Given the description of an element on the screen output the (x, y) to click on. 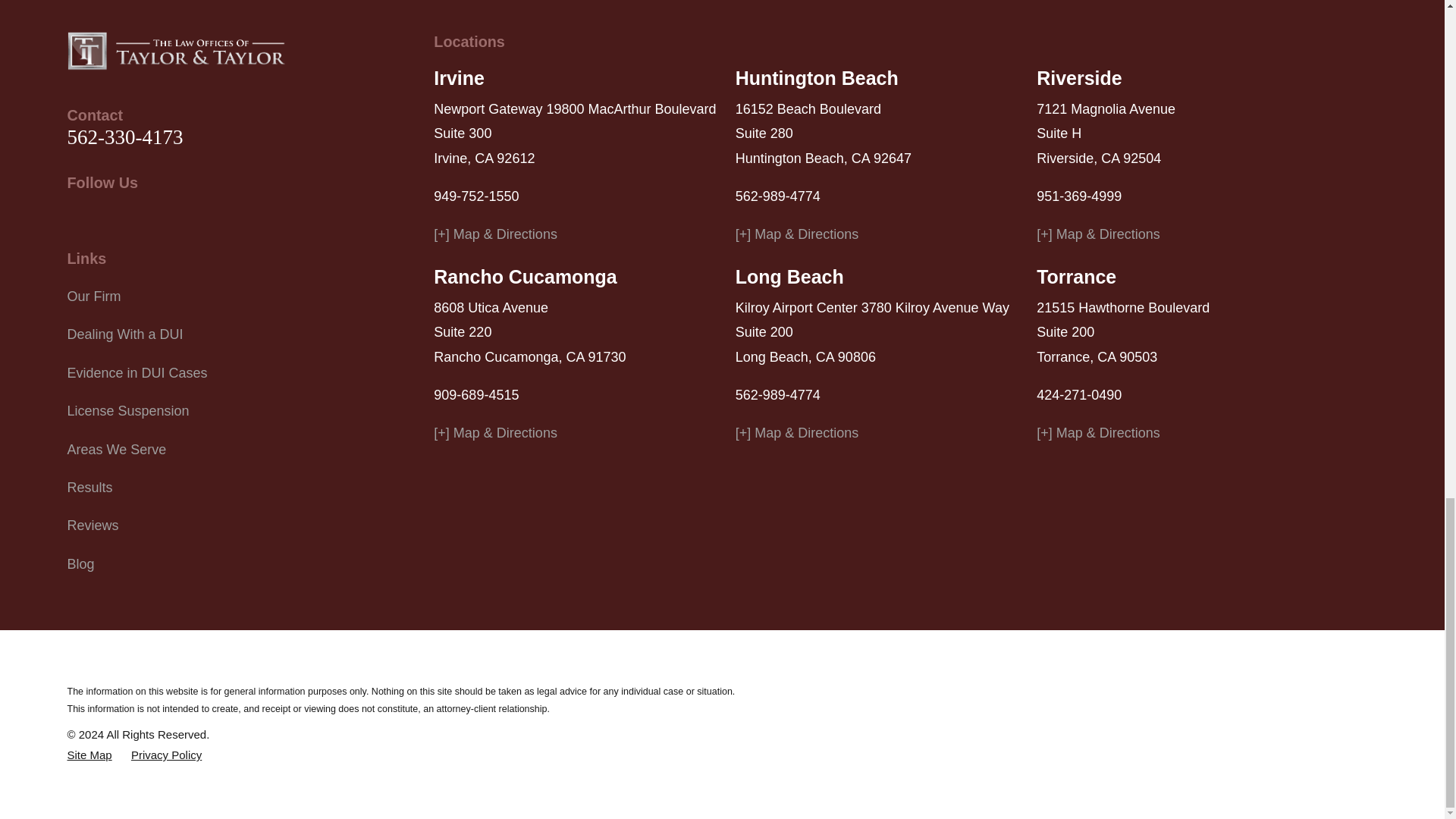
Home (175, 50)
Twitter (75, 217)
Facebook (115, 217)
